Given the description of an element on the screen output the (x, y) to click on. 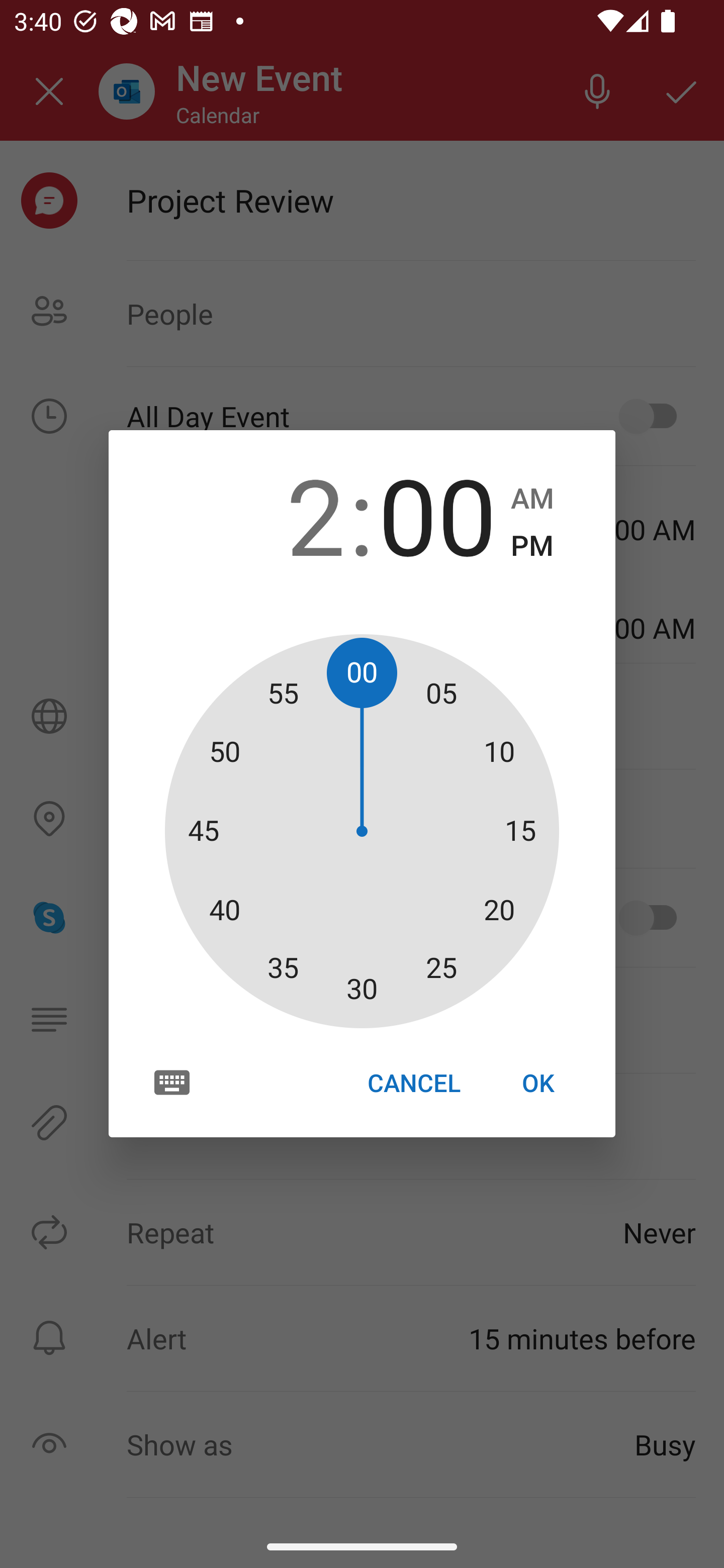
2 (285, 513)
00 (436, 513)
AM (532, 498)
PM (532, 546)
CANCEL (413, 1082)
OK (537, 1082)
Switch to text input mode for the time input. (171, 1081)
